Given the description of an element on the screen output the (x, y) to click on. 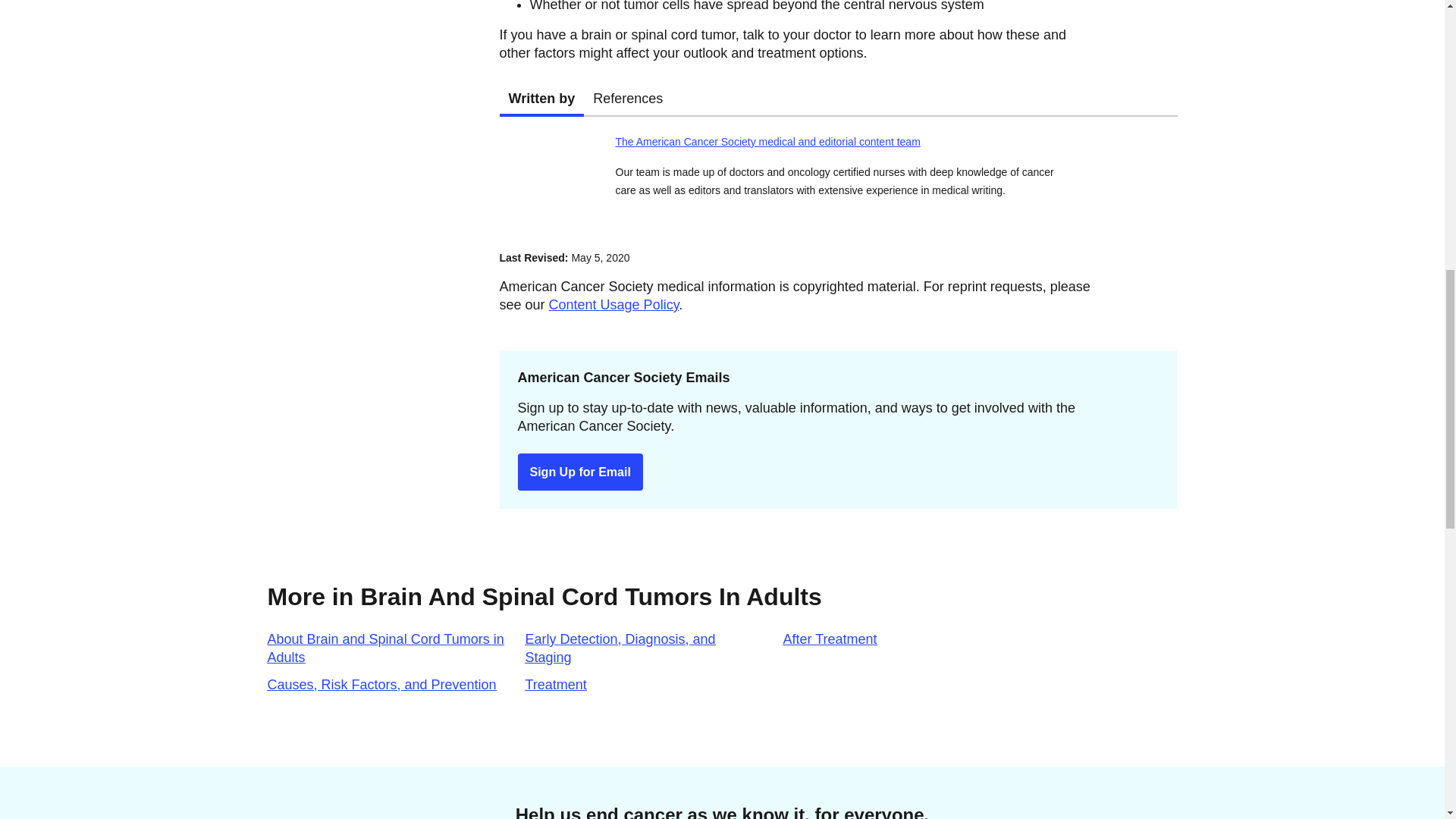
Causes, Risk Factors, and Prevention (381, 684)
About Brain and Spinal Cord Tumors in Adults (837, 98)
Treatment (384, 648)
After Treatment (555, 684)
Early Detection, Diagnosis, and Staging (829, 639)
